Given the description of an element on the screen output the (x, y) to click on. 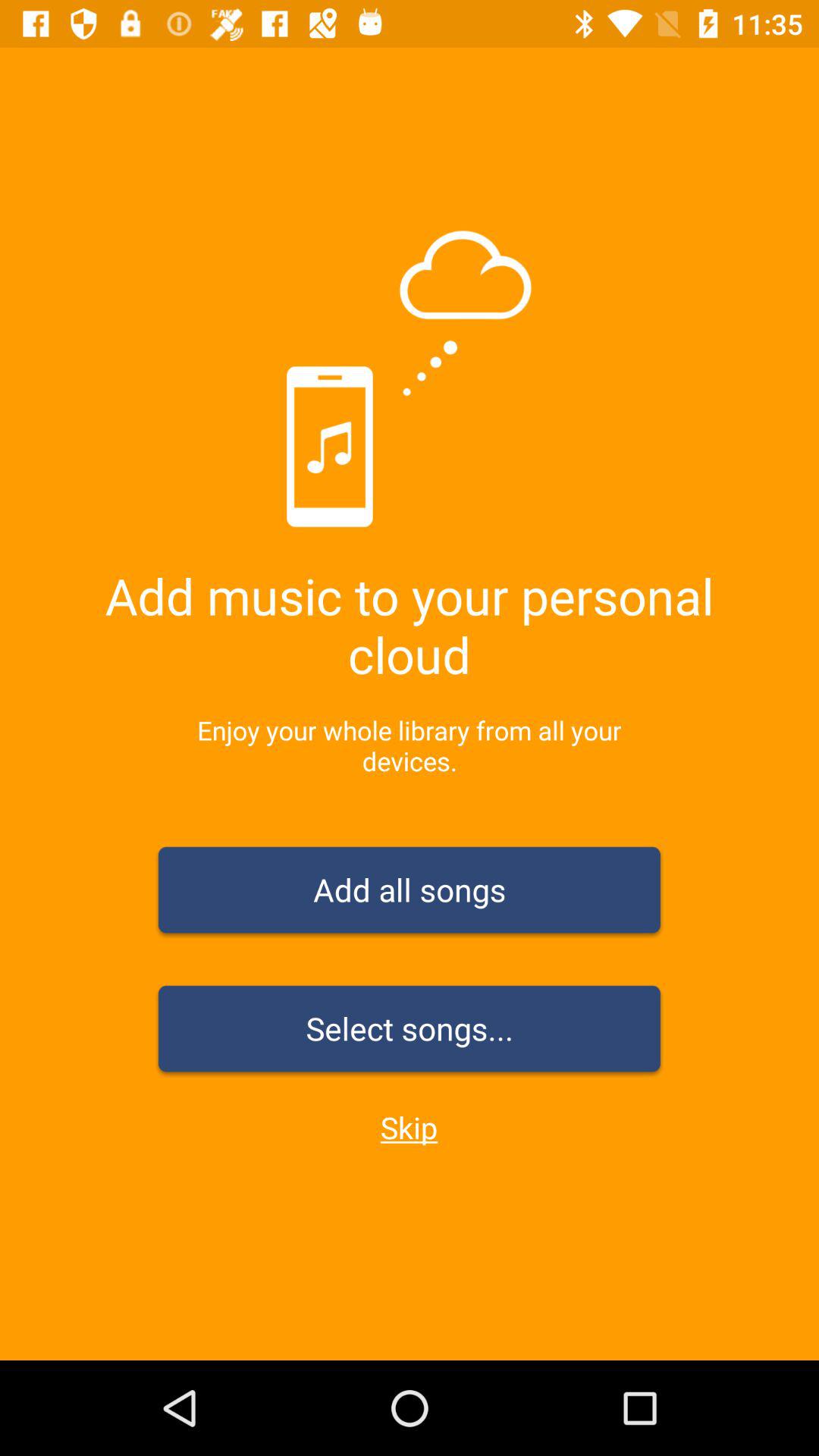
select icon below the select songs... icon (408, 1127)
